Given the description of an element on the screen output the (x, y) to click on. 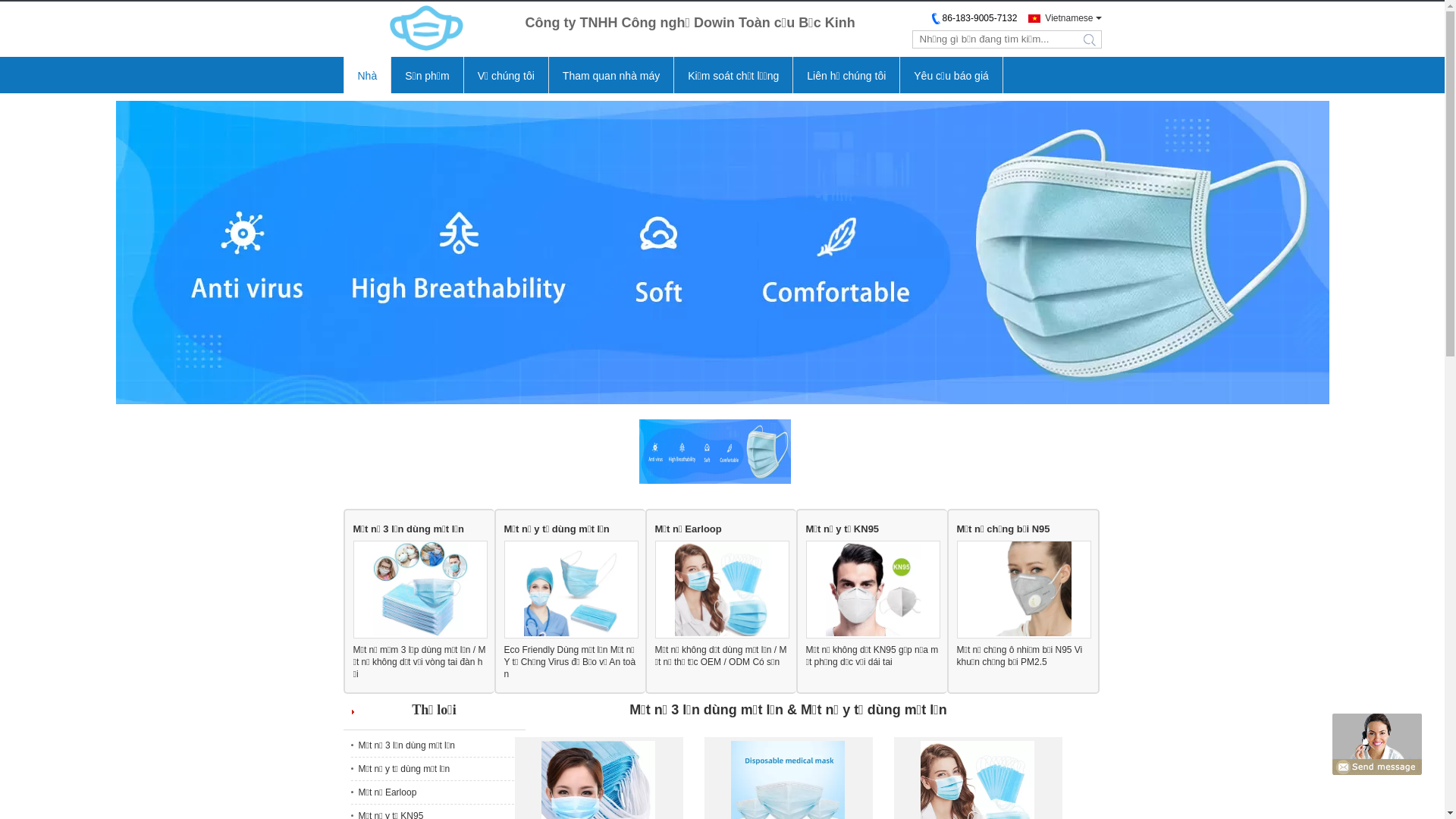
Vietnamese Element type: text (1060, 17)
